Given the description of an element on the screen output the (x, y) to click on. 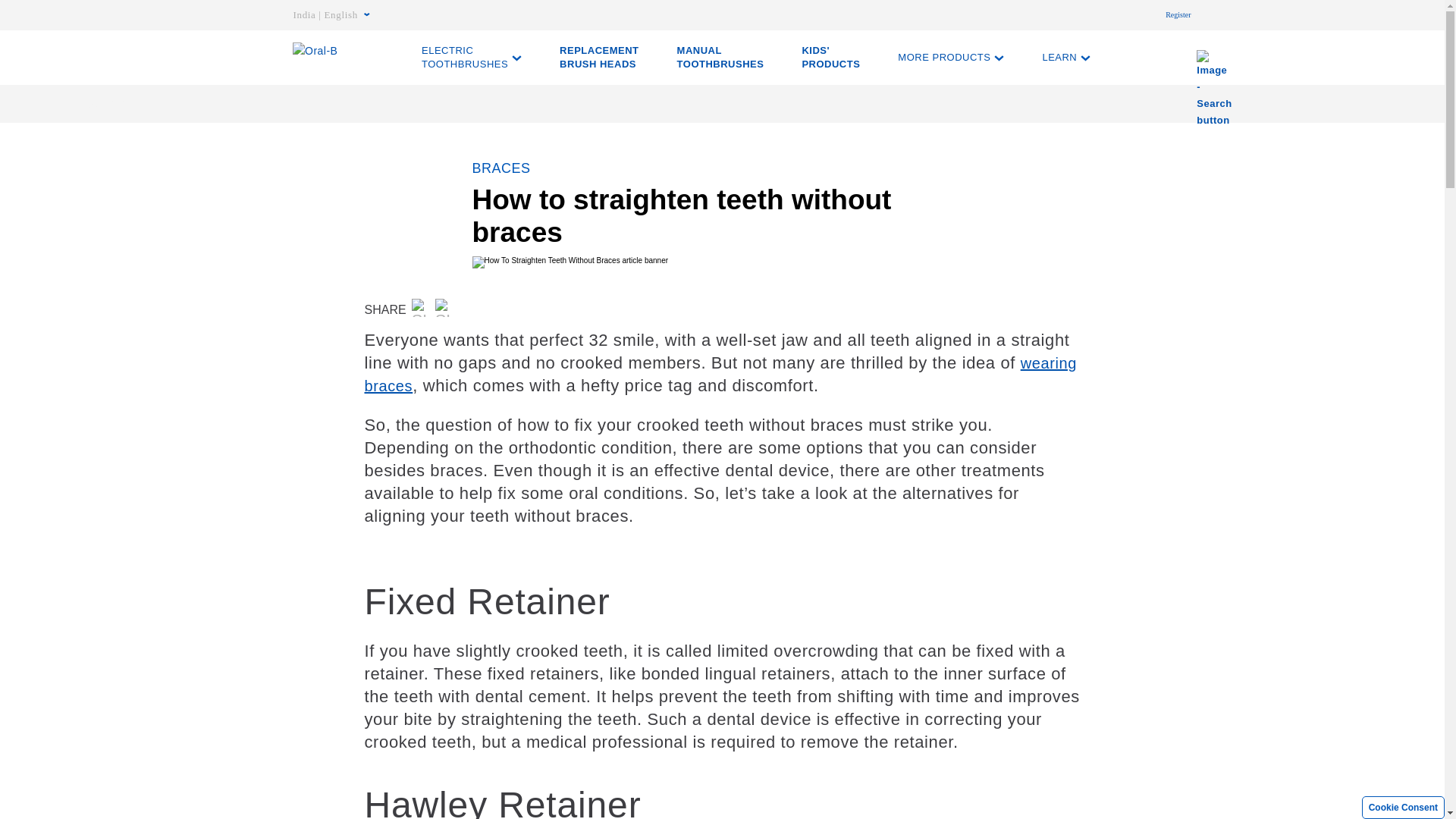
wearing braces (720, 373)
